Given the description of an element on the screen output the (x, y) to click on. 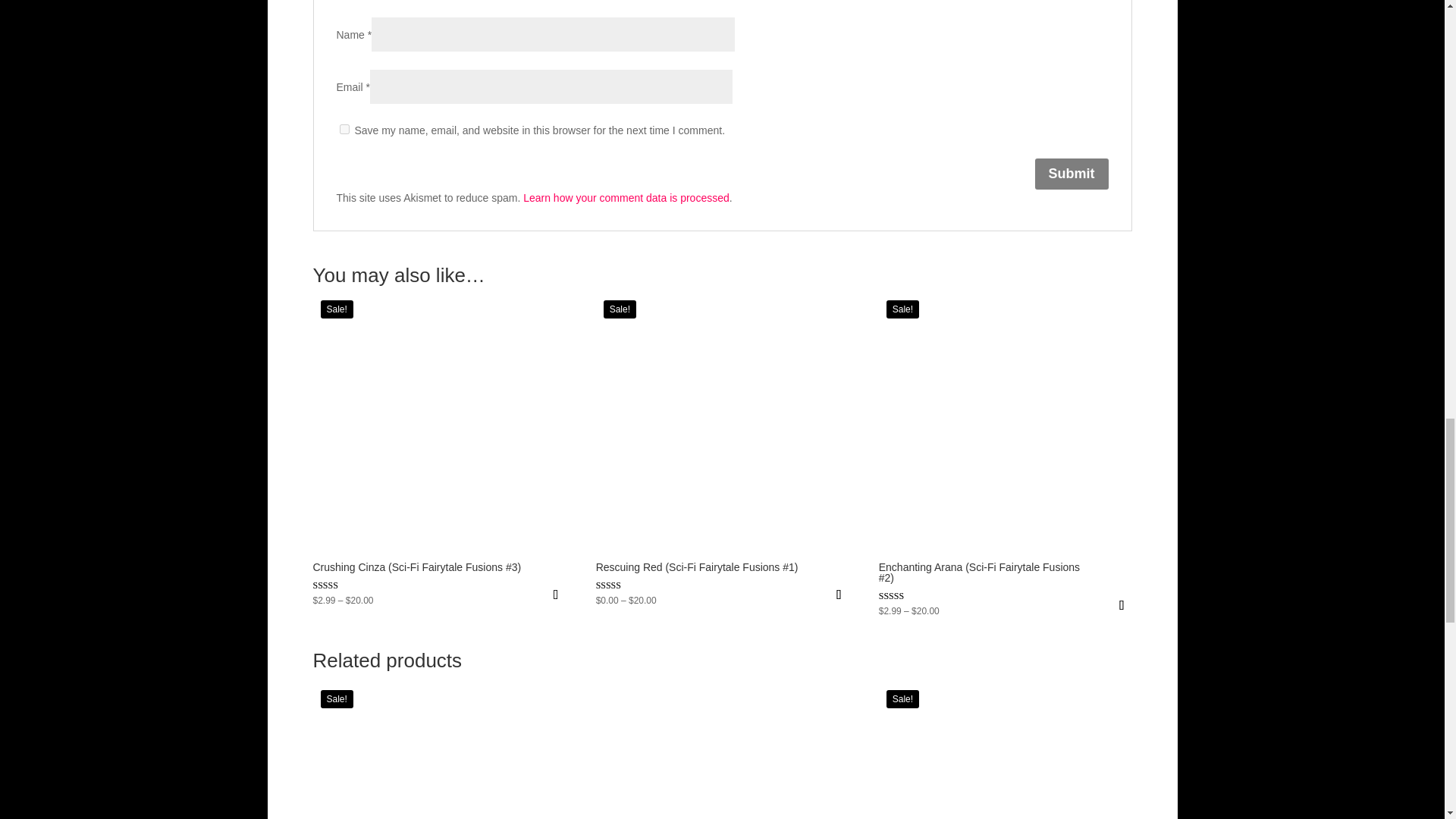
yes (344, 129)
Submit (1070, 173)
